Given the description of an element on the screen output the (x, y) to click on. 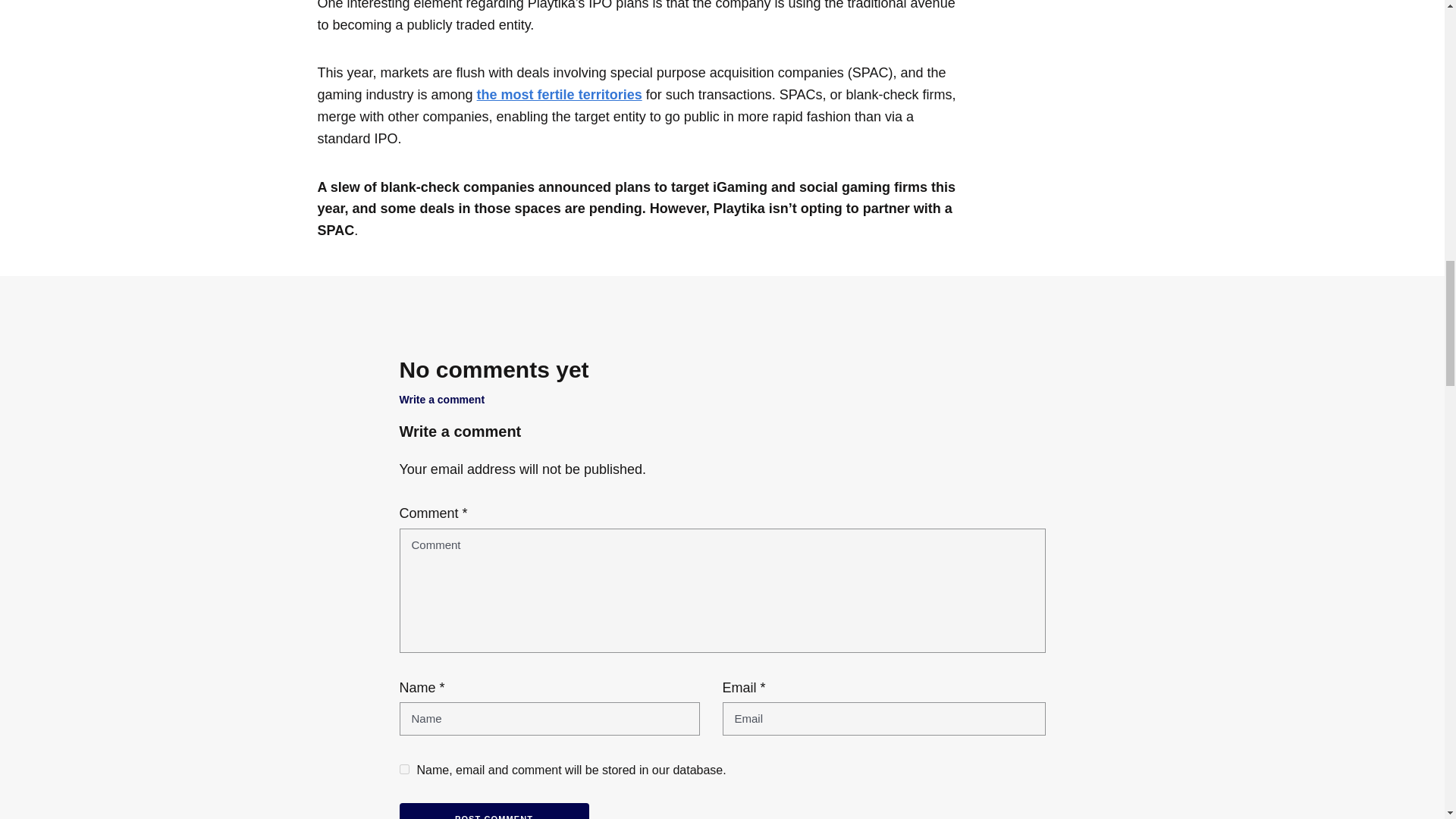
the most fertile territories (559, 94)
Post Comment (493, 811)
yes (403, 768)
